Given the description of an element on the screen output the (x, y) to click on. 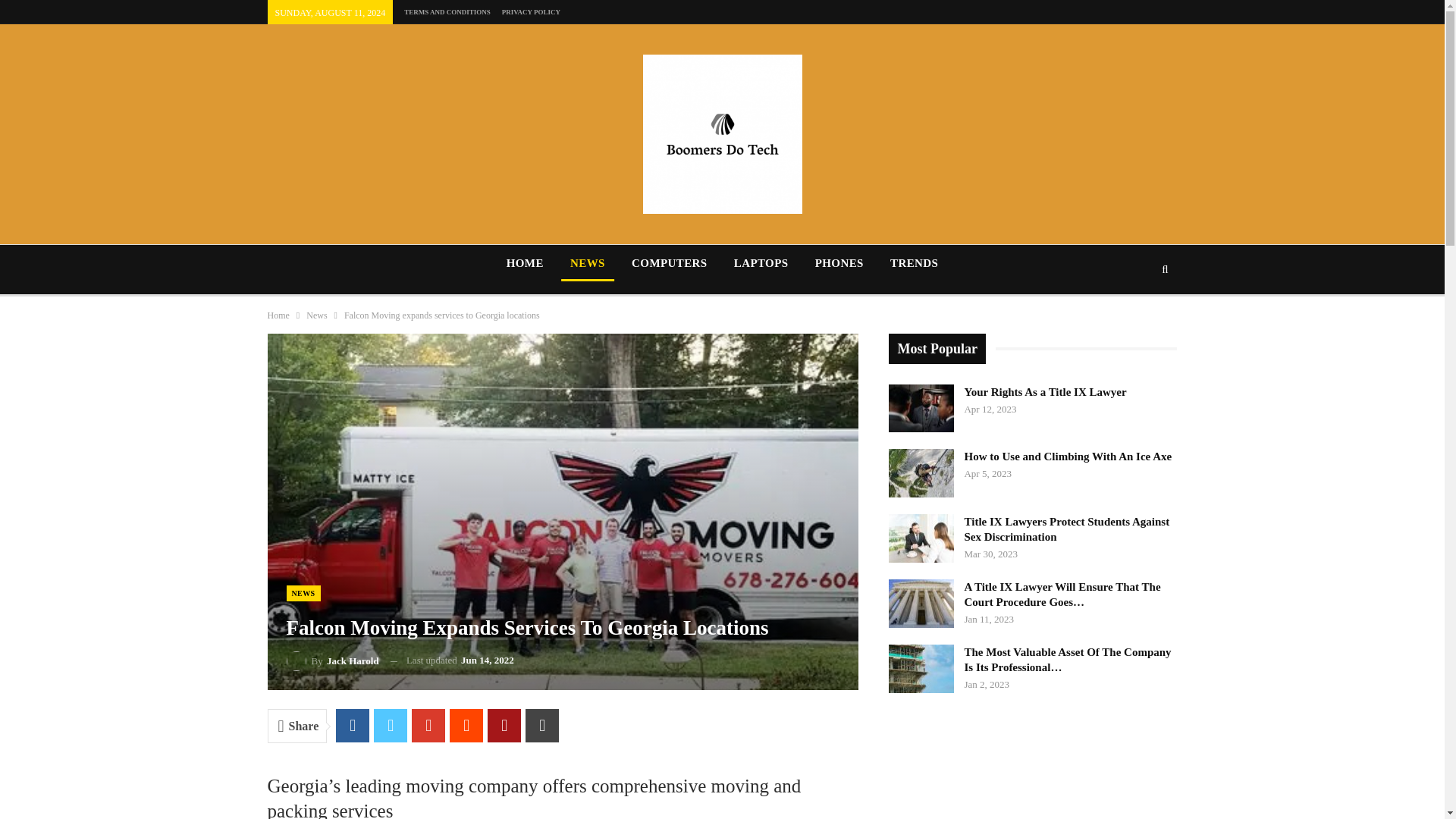
TERMS AND CONDITIONS (447, 11)
HOME (525, 262)
PRIVACY POLICY (531, 11)
LAPTOPS (761, 262)
NEWS (303, 593)
COMPUTERS (669, 262)
TRENDS (913, 262)
News (315, 315)
Home (277, 315)
